Given the description of an element on the screen output the (x, y) to click on. 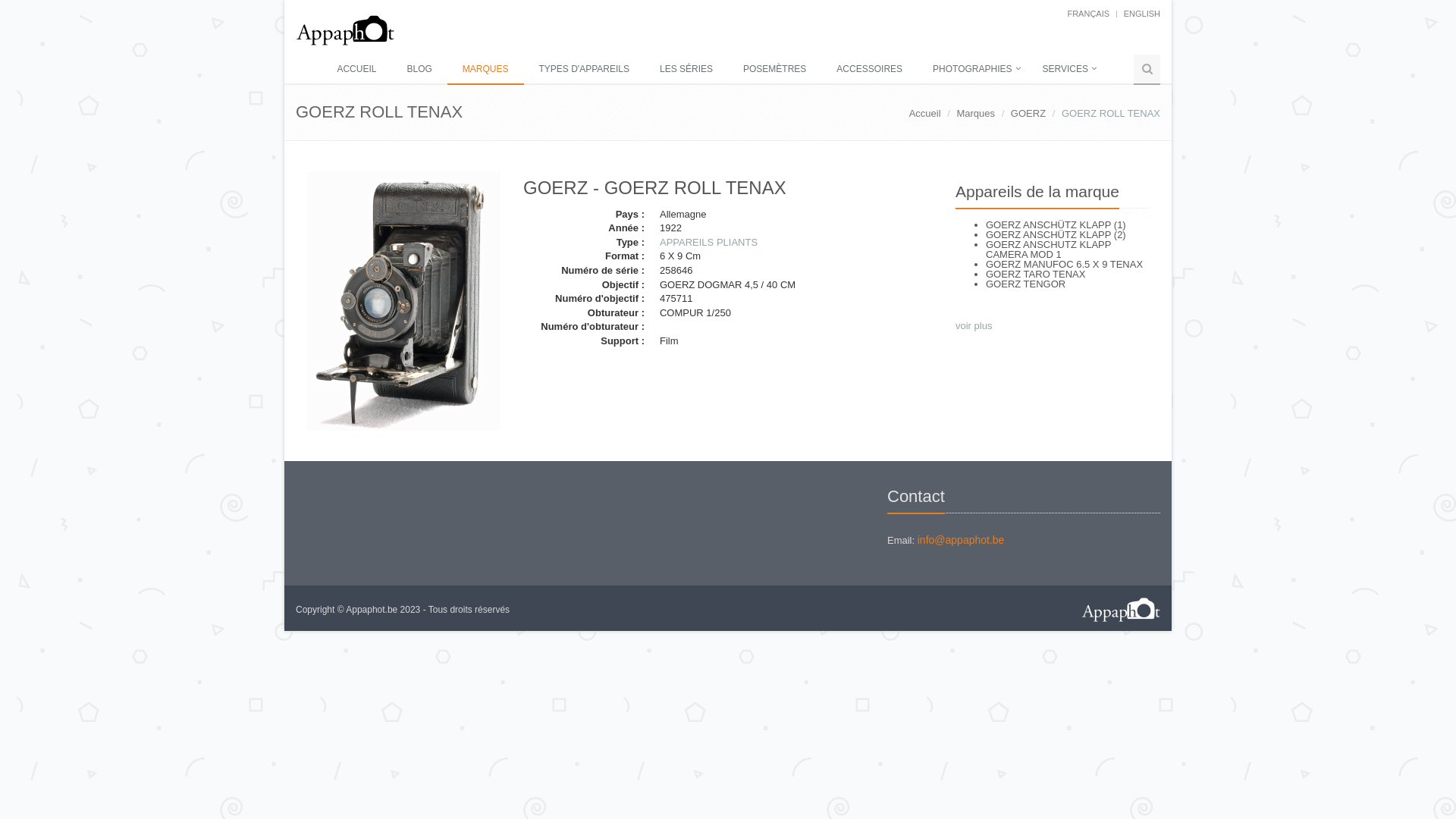
PHOTOGRAPHIES Element type: text (971, 69)
APPAREILS PLIANTS Element type: text (708, 241)
GOERZ ANSCHUTZ KLAPP CAMERA MOD 1 Element type: text (1047, 249)
MARQUES Element type: text (485, 69)
voir plus Element type: text (973, 325)
info@appaphot.be Element type: text (960, 539)
TYPES D'APPAREILS Element type: text (584, 69)
GOERZ TARO TENAX Element type: text (1035, 273)
ACCUEIL Element type: text (356, 69)
Marques Element type: text (975, 113)
SERVICES Element type: text (1065, 69)
ENGLISH Element type: text (1141, 13)
GOERZ TENGOR Element type: text (1025, 283)
Accueil Element type: text (925, 113)
GOERZ MANUFOC 6.5 X 9 TENAX Element type: text (1063, 263)
BLOG Element type: text (418, 69)
ACCESSOIRES Element type: text (869, 69)
GOERZ Element type: text (1027, 113)
